Given the description of an element on the screen output the (x, y) to click on. 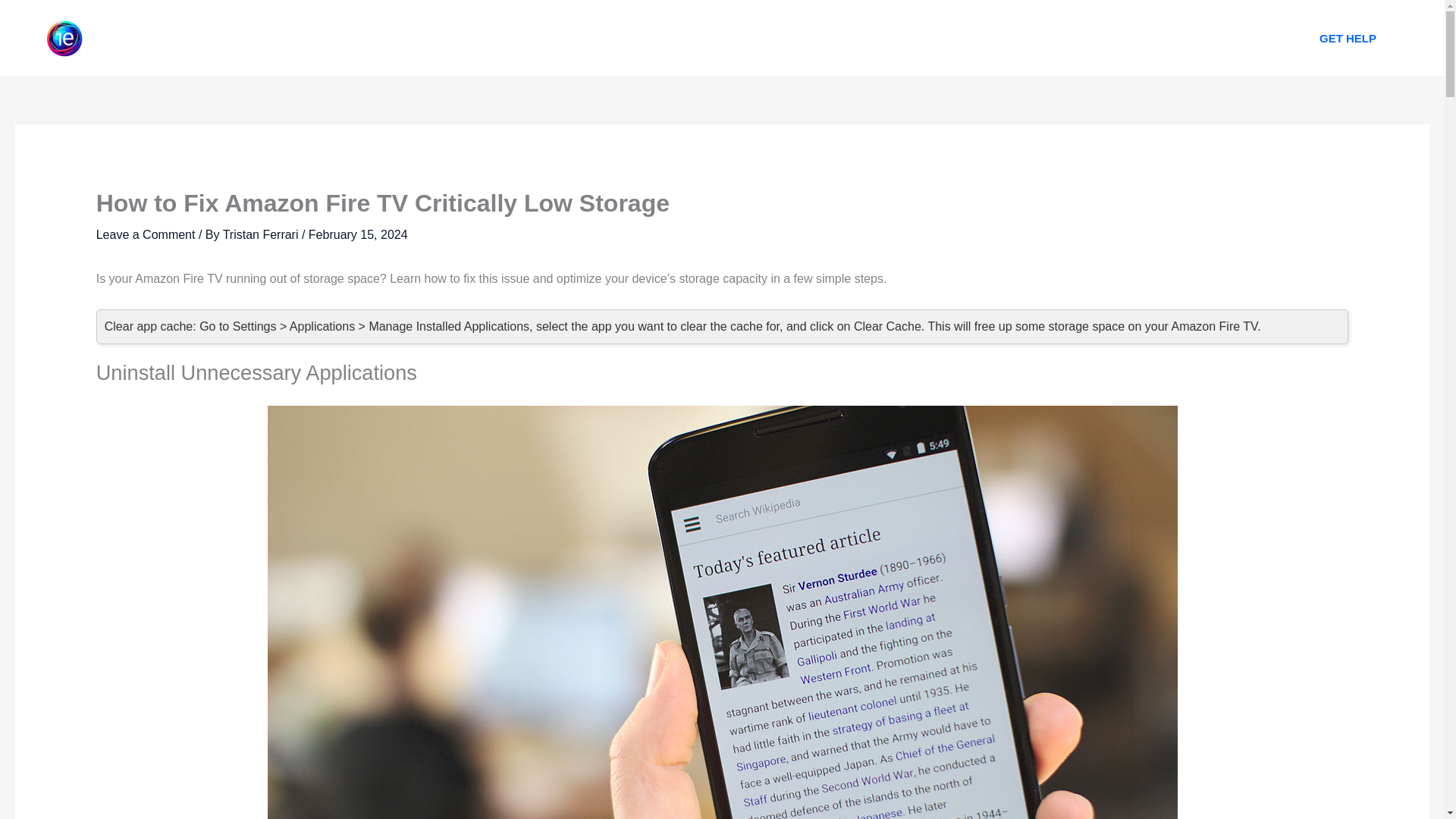
Leave a Comment (145, 234)
OFFERINGS (747, 37)
View all posts by Tristan Ferrari (261, 234)
HOME (592, 37)
ABOUT (662, 37)
GET HELP (1348, 38)
Tristan Ferrari (261, 234)
CONTACT (841, 37)
